Given the description of an element on the screen output the (x, y) to click on. 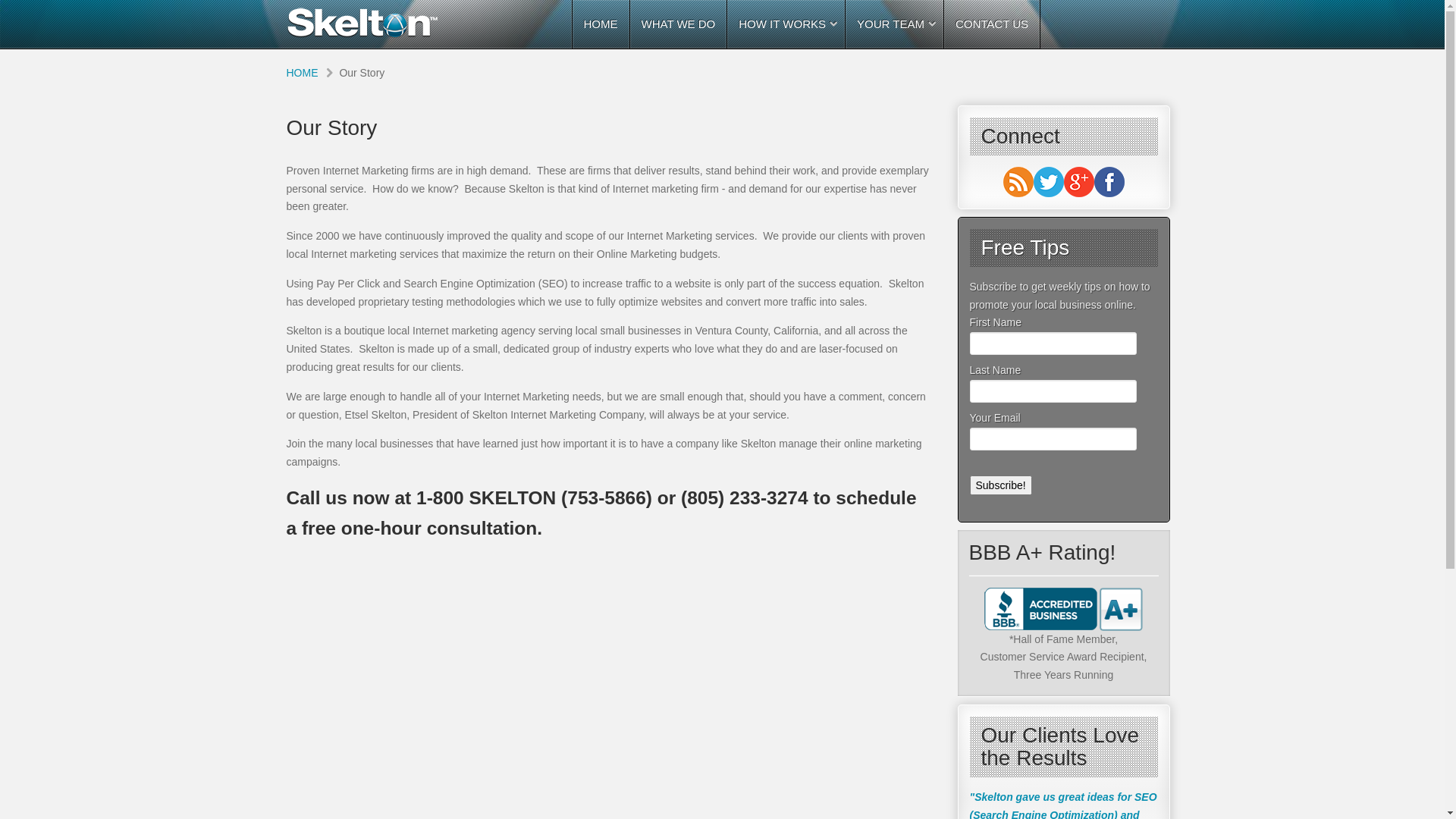
Connect with Skelton on Google+ Element type: hover (1078, 180)
HOW IT WORKS Element type: text (785, 24)
Connect with Skelton on Facebook Element type: hover (1108, 180)
HOME Element type: text (600, 24)
Subscribe! Element type: text (1000, 485)
Subscribe to the Skelton Blog Element type: hover (1017, 180)
YOUR TEAM Element type: text (894, 24)
Connect with Skelton on Twitter Element type: hover (1047, 180)
CONTACT US Element type: text (991, 24)
WHAT WE DO Element type: text (677, 24)
HOME Element type: text (311, 72)
